Given the description of an element on the screen output the (x, y) to click on. 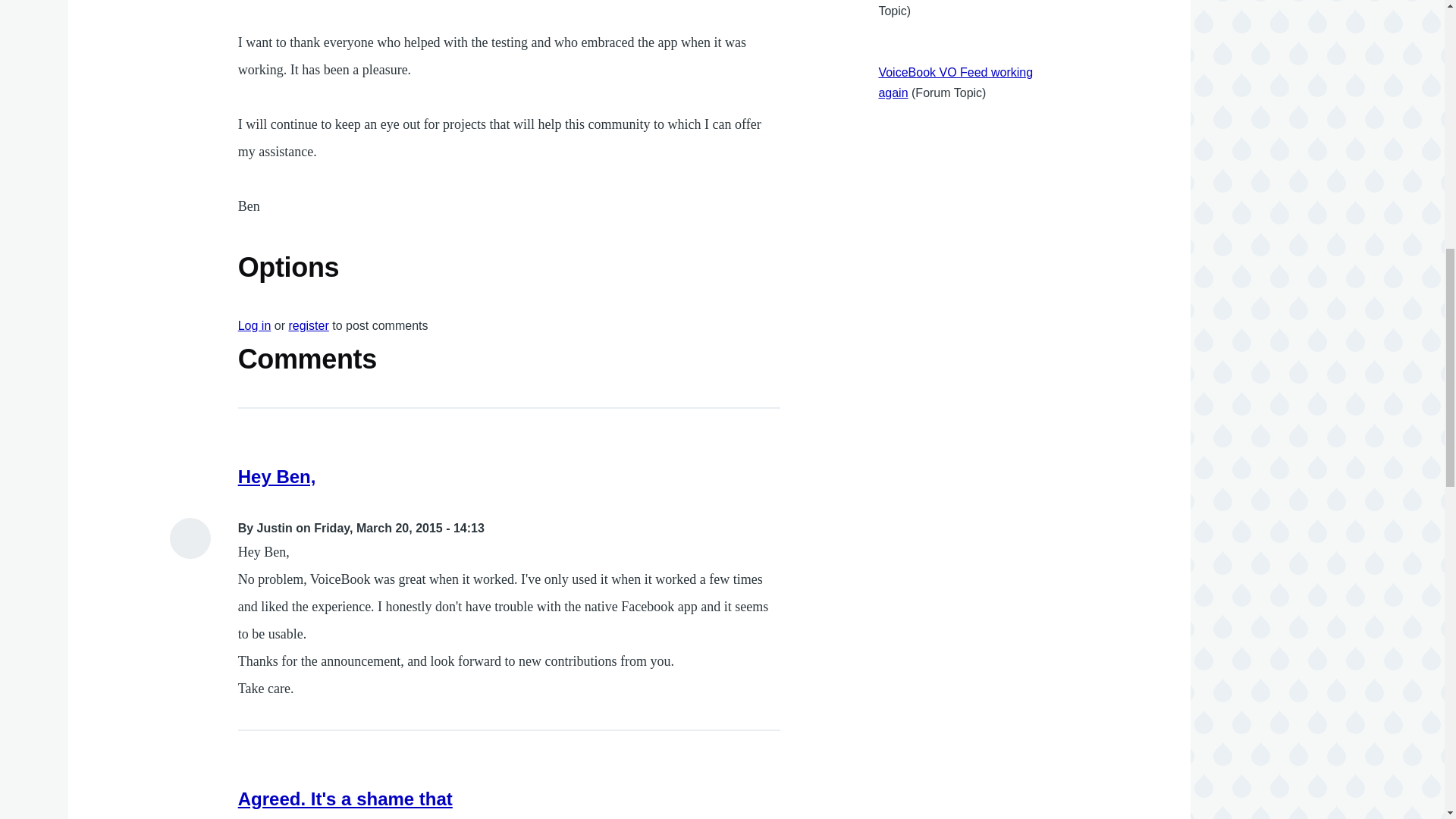
Hey Ben, (276, 476)
Agreed. It's a shame that (345, 798)
Log in (254, 325)
VoiceBook VO Feed working again (954, 82)
register (308, 325)
